Given the description of an element on the screen output the (x, y) to click on. 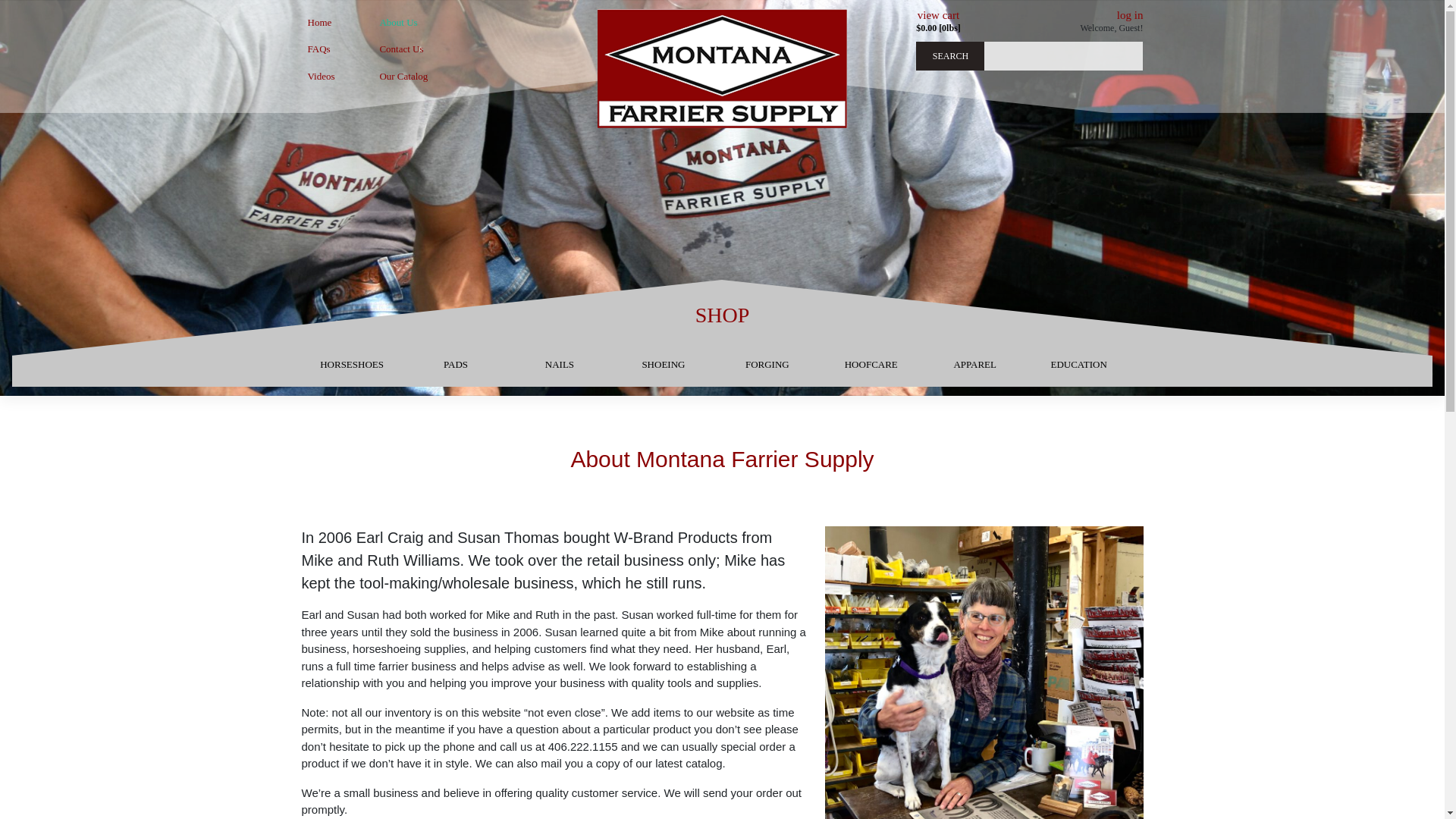
Videos (331, 76)
view cart (938, 15)
Home (331, 22)
About Us (402, 22)
log in (1129, 15)
About Us (402, 22)
Home (331, 22)
Our Catalog (402, 76)
FAQs (331, 49)
Contact Us (402, 49)
Contact Us (402, 49)
Our Catalog (402, 76)
HORSESHOES (352, 372)
Videos (331, 76)
FAQs (331, 49)
